Given the description of an element on the screen output the (x, y) to click on. 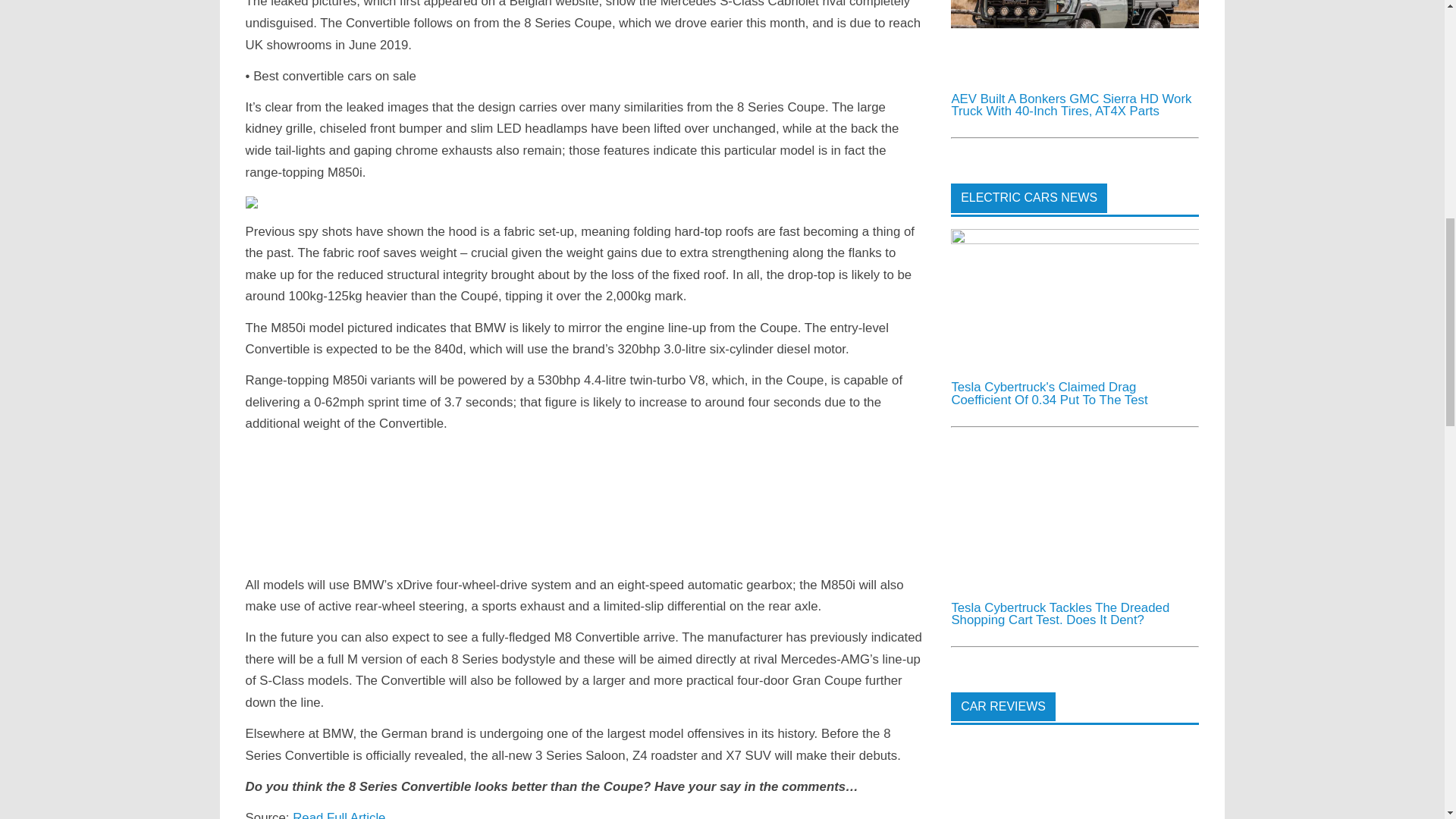
Read Full Article (338, 814)
